Given the description of an element on the screen output the (x, y) to click on. 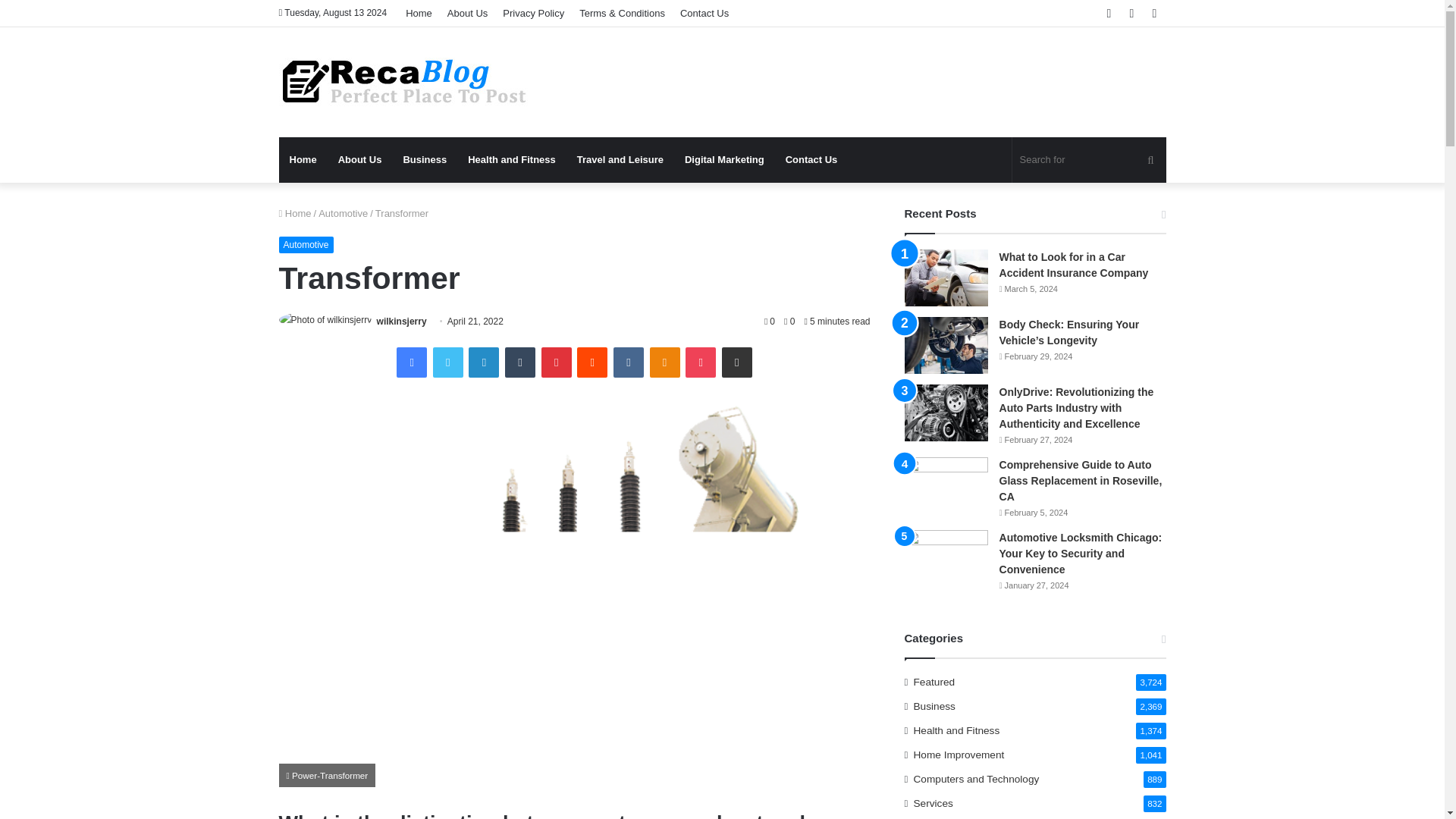
Health and Fitness (511, 159)
Home (303, 159)
Tumblr (520, 362)
Pinterest (556, 362)
About Us (467, 13)
Automotive (343, 213)
Privacy Policy (533, 13)
Automotive (306, 244)
About Us (360, 159)
wilkinsjerry (401, 321)
